Given the description of an element on the screen output the (x, y) to click on. 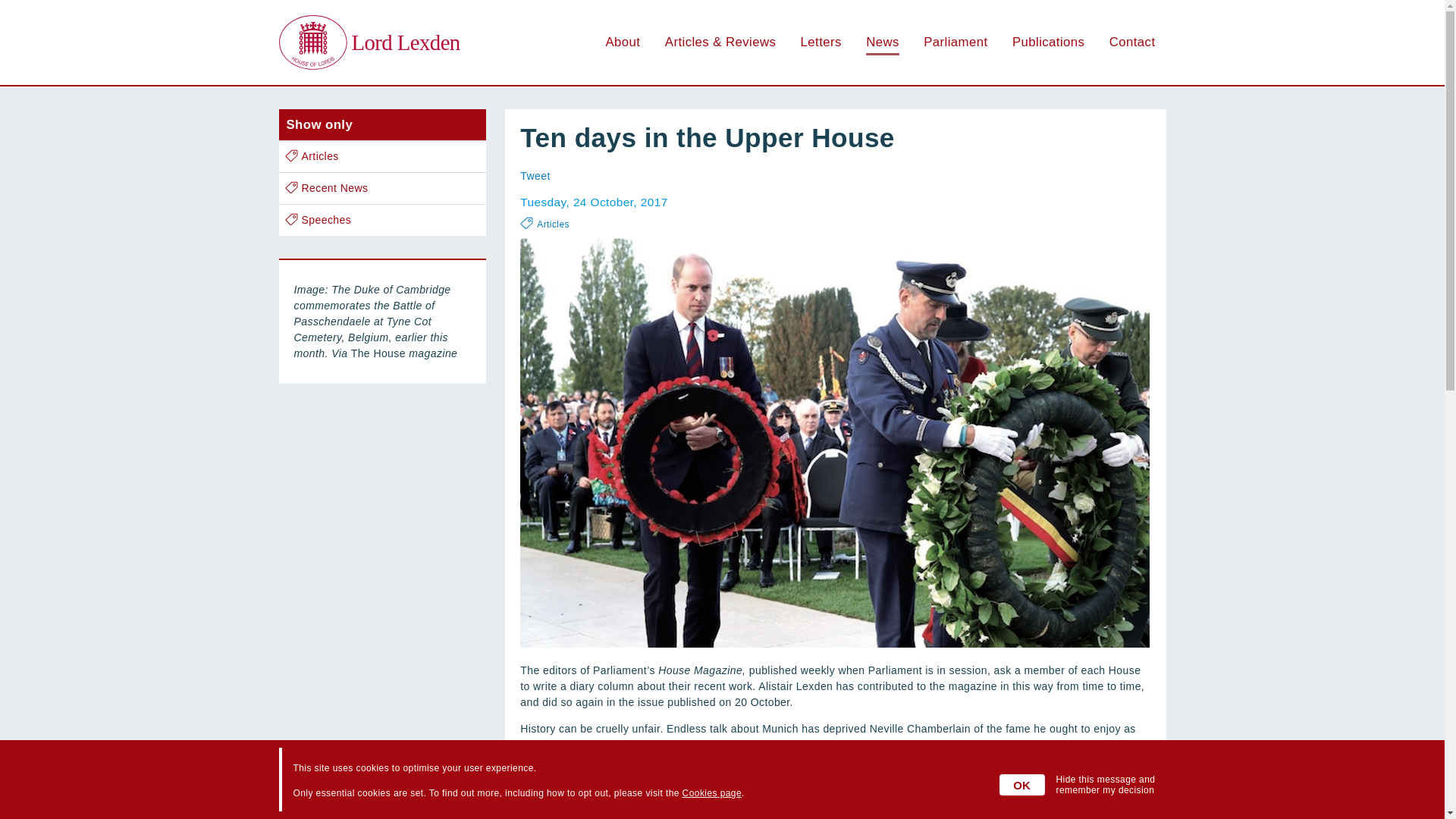
Publications (1047, 41)
About Lord Lexden (622, 41)
Letters (820, 41)
OK (1021, 784)
Publications (1047, 41)
Contact (1132, 41)
Articles (382, 155)
Cookies page (711, 792)
Lord Lexden (369, 42)
Tweet (534, 175)
Parliament (955, 41)
Articles (720, 41)
Parliament (955, 41)
About (622, 41)
